Given the description of an element on the screen output the (x, y) to click on. 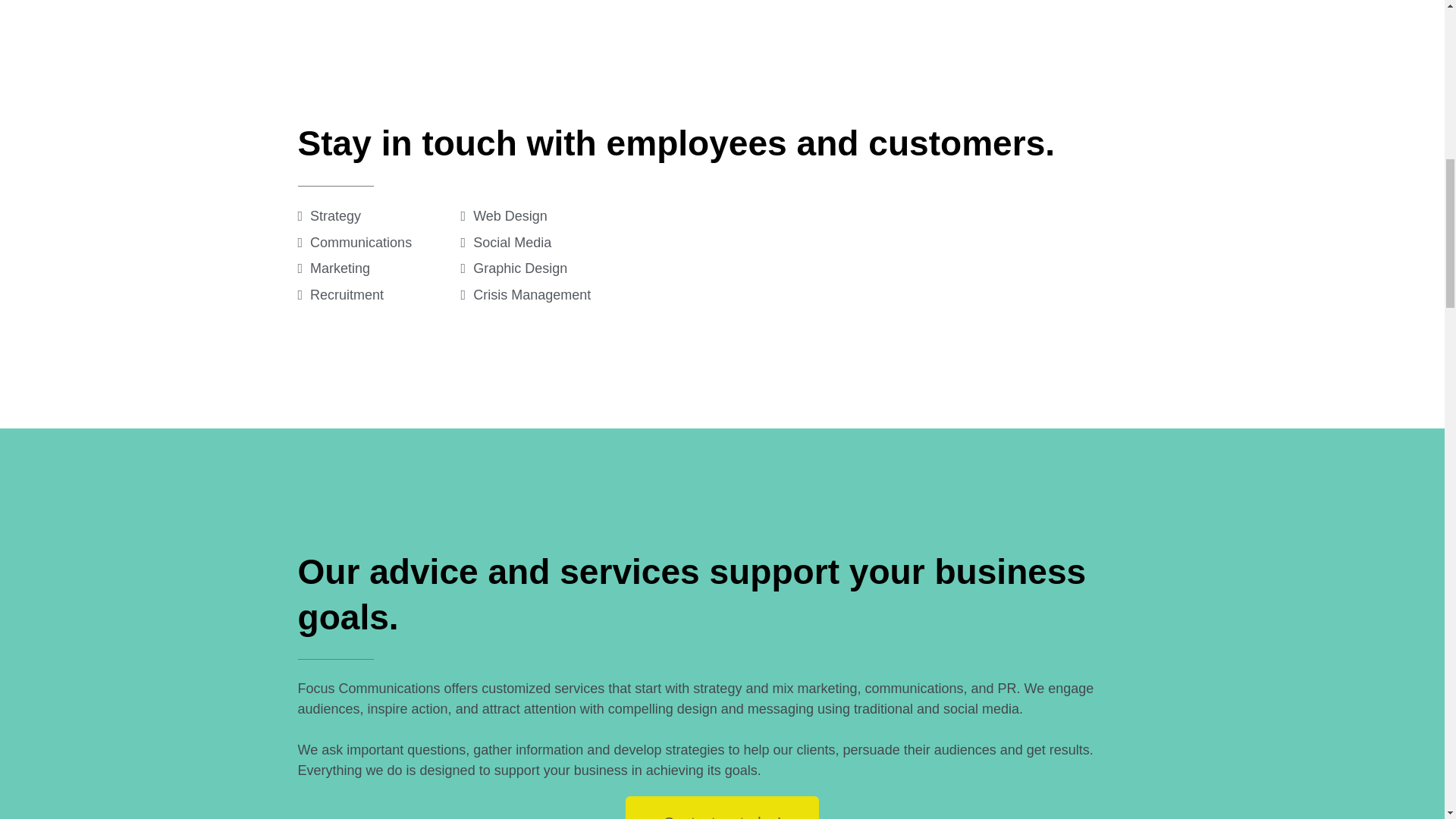
Graphic Design (514, 268)
Communications (354, 242)
Recruitment (340, 295)
Social Media (506, 242)
Crisis Management (526, 295)
Marketing (333, 268)
Web Design (504, 215)
Contact us today! (722, 807)
Strategy (329, 215)
